Given the description of an element on the screen output the (x, y) to click on. 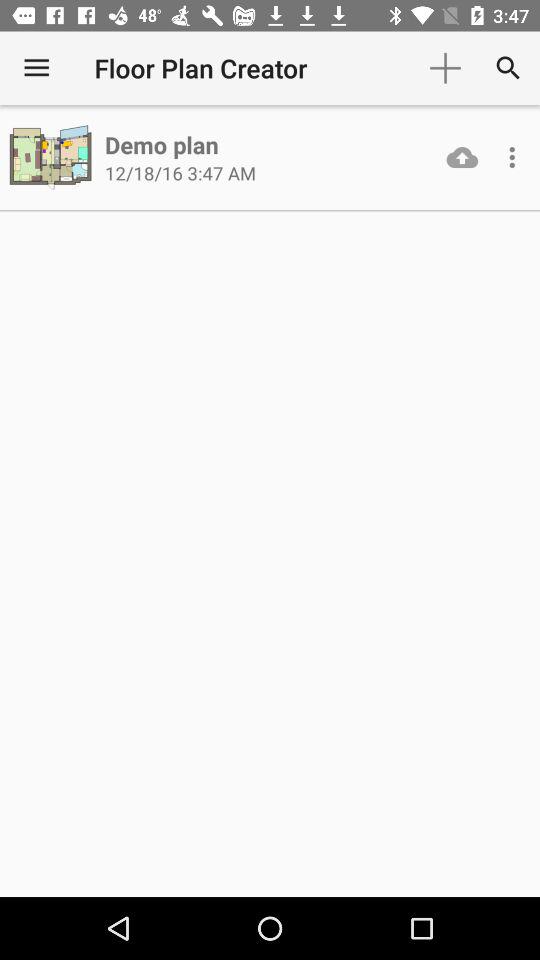
swipe to the demo plan icon (161, 144)
